Given the description of an element on the screen output the (x, y) to click on. 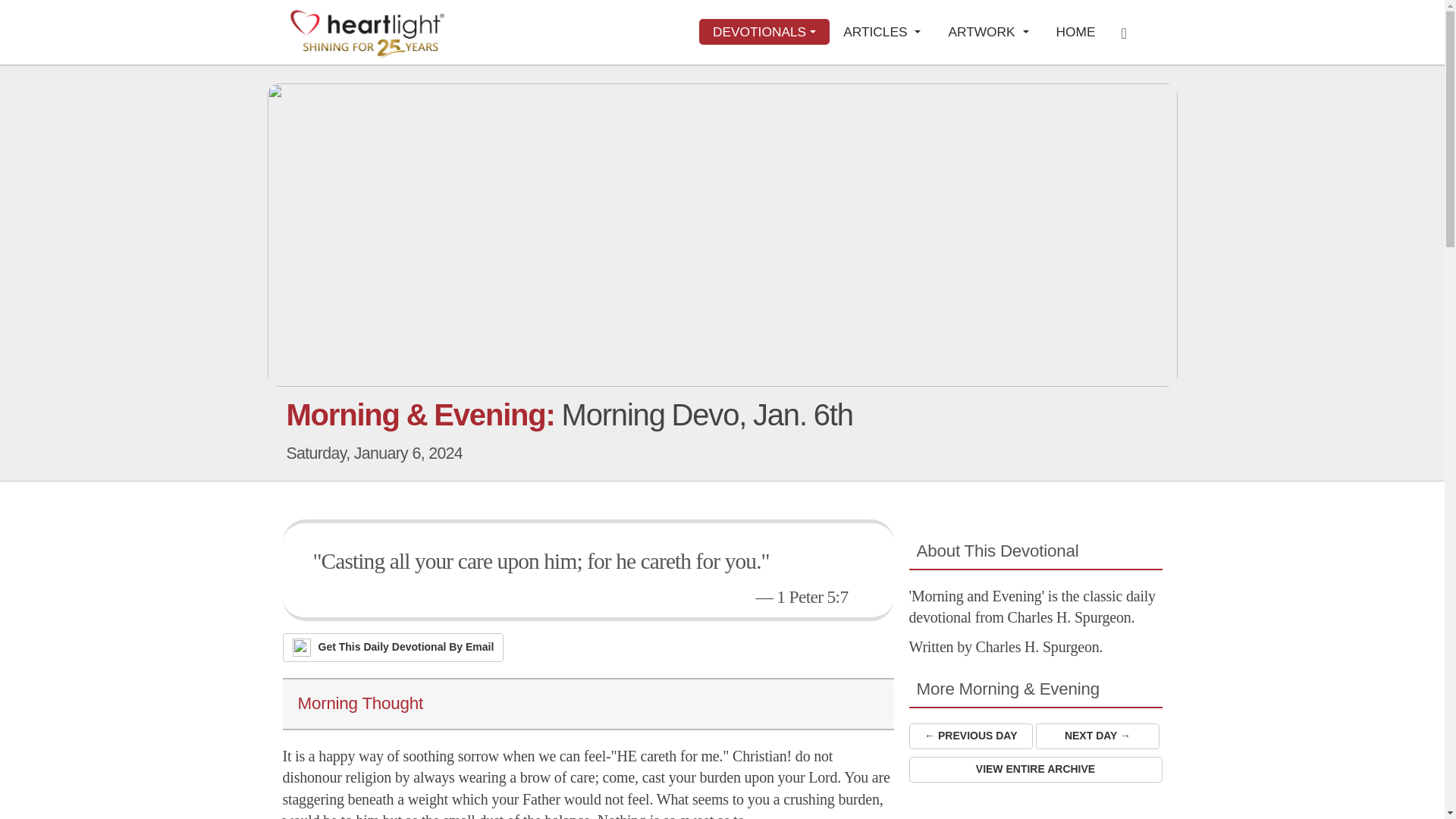
DEVOTIONALS (763, 31)
ARTWORK (988, 31)
ARTICLES (881, 31)
Heartlight - Home (367, 33)
HOME (1075, 31)
Search Heartlight (1127, 32)
